Given the description of an element on the screen output the (x, y) to click on. 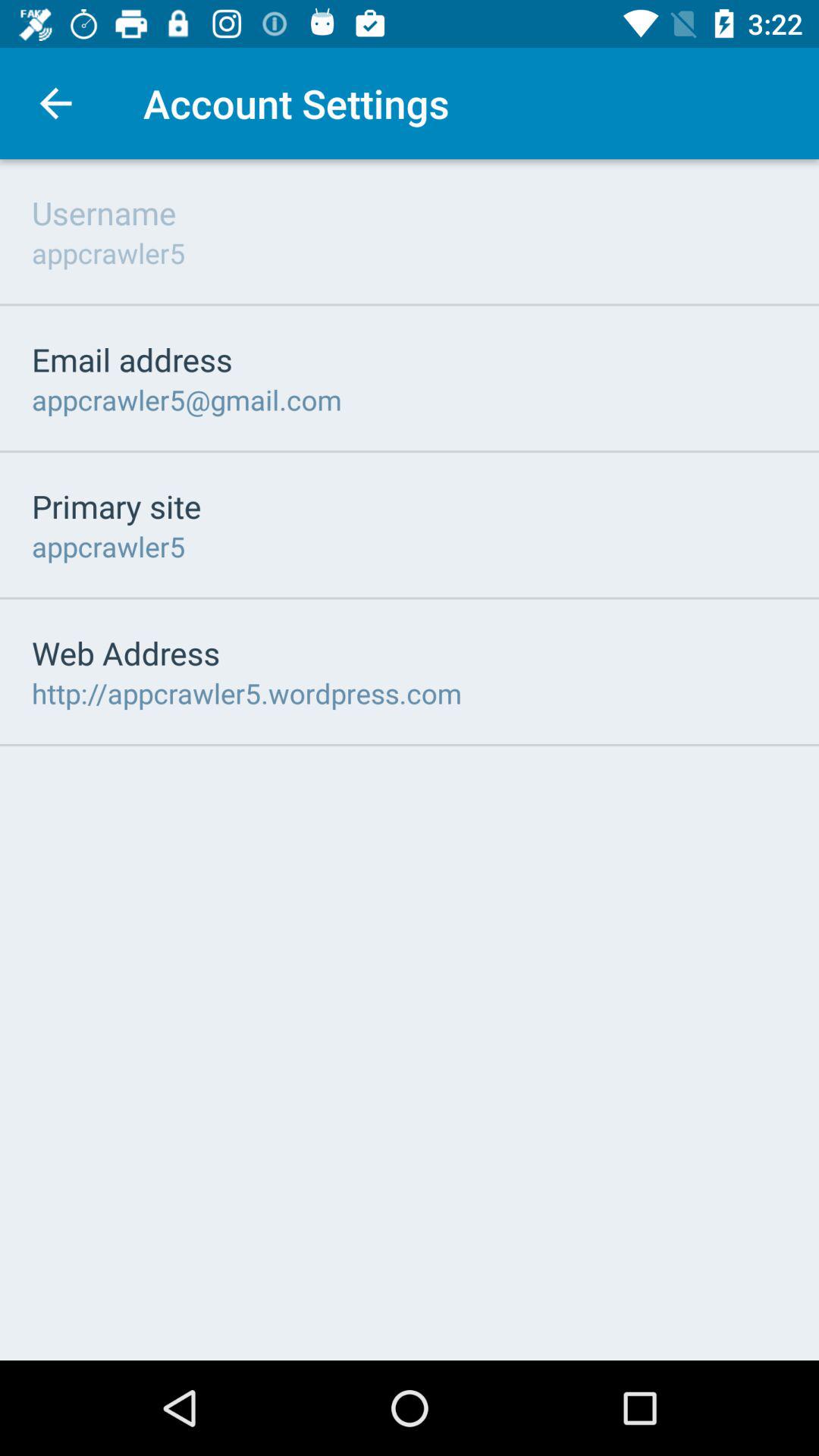
launch the item next to the account settings (55, 103)
